Given the description of an element on the screen output the (x, y) to click on. 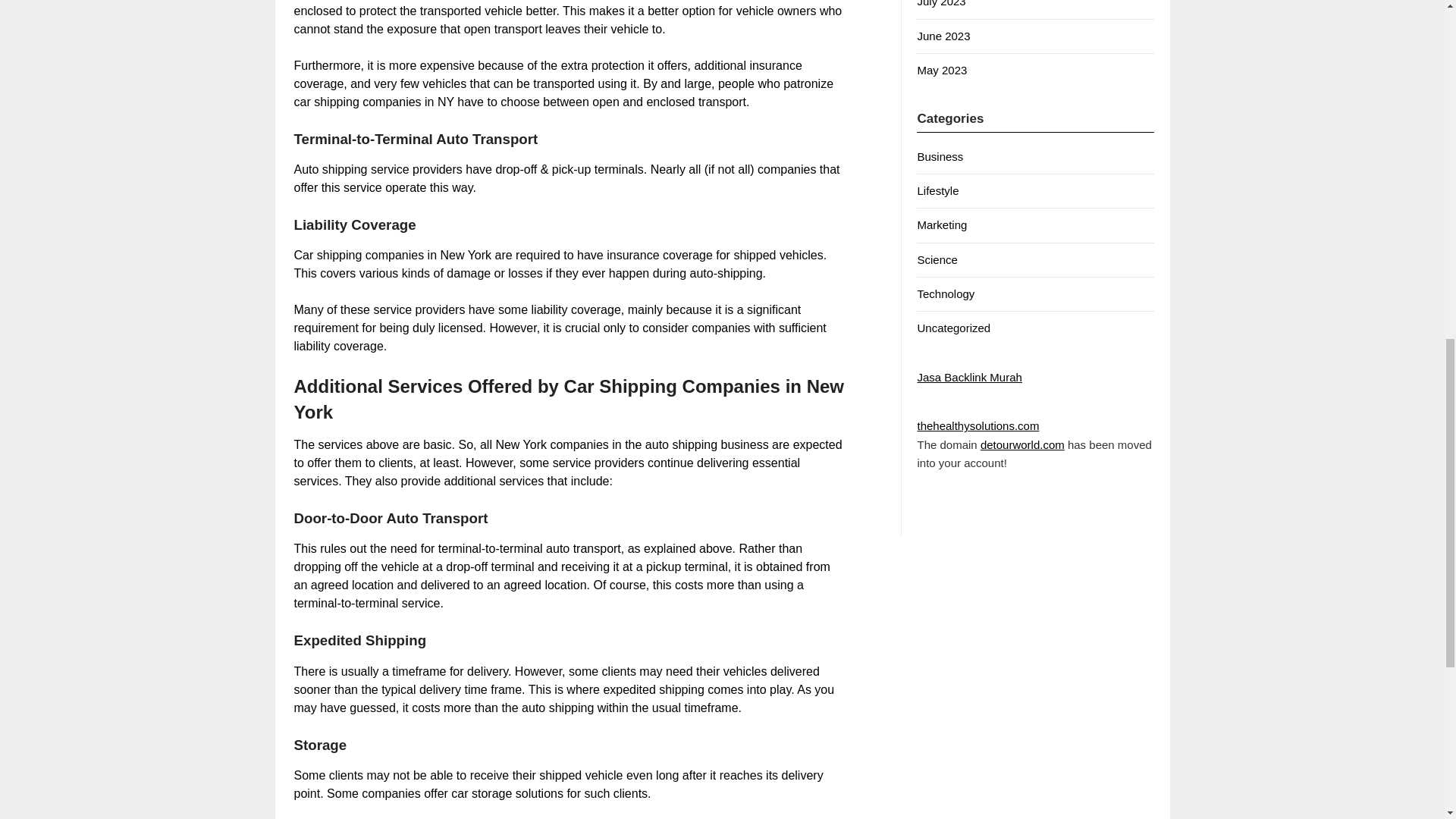
Lifestyle (937, 190)
Business (939, 155)
June 2023 (943, 35)
May 2023 (941, 69)
Marketing (941, 224)
Science (936, 259)
July 2023 (941, 3)
Technology (945, 293)
